Given the description of an element on the screen output the (x, y) to click on. 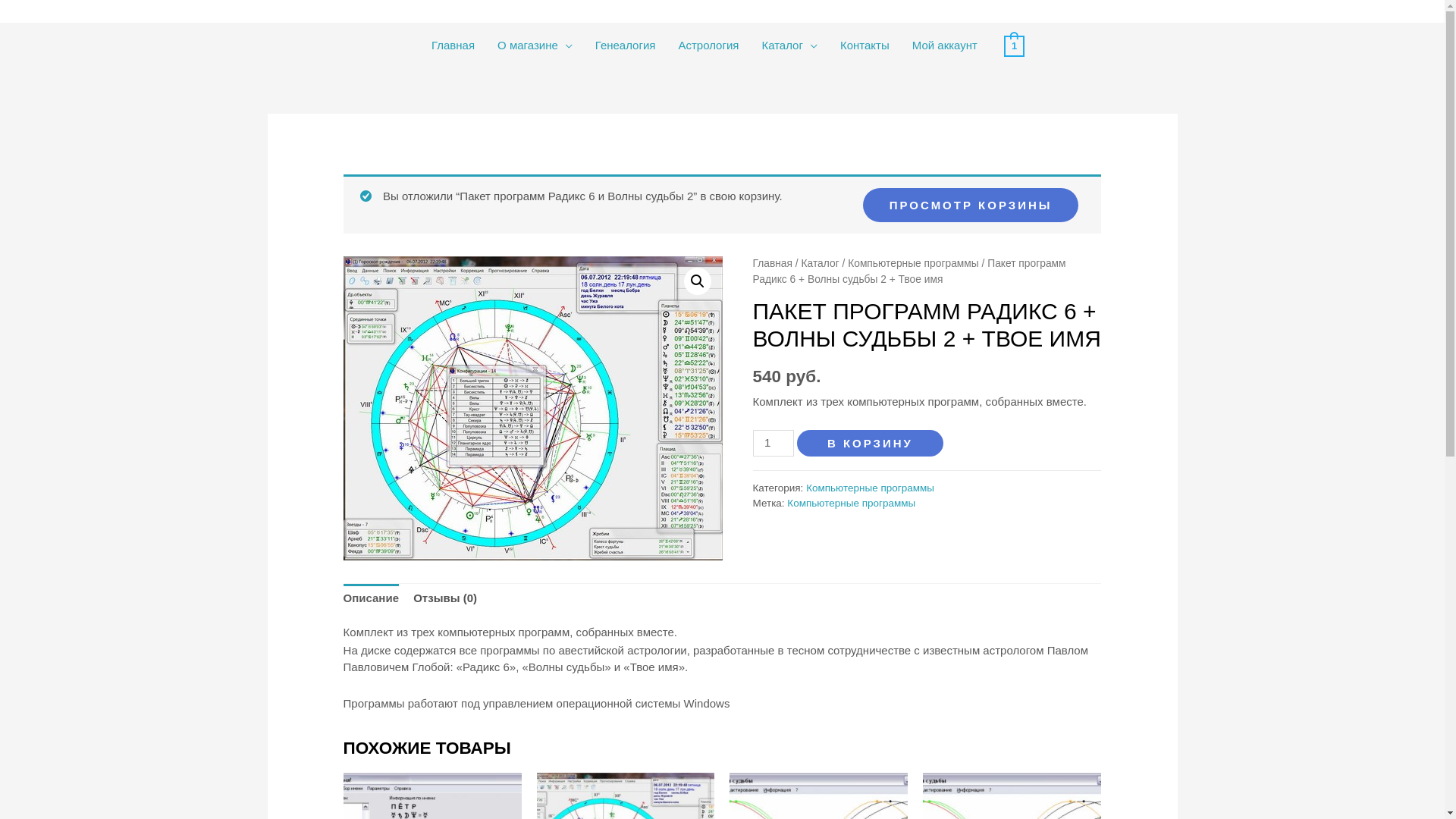
1 Element type: text (1014, 44)
radix6-big-500x500 Element type: hover (532, 408)
